Given the description of an element on the screen output the (x, y) to click on. 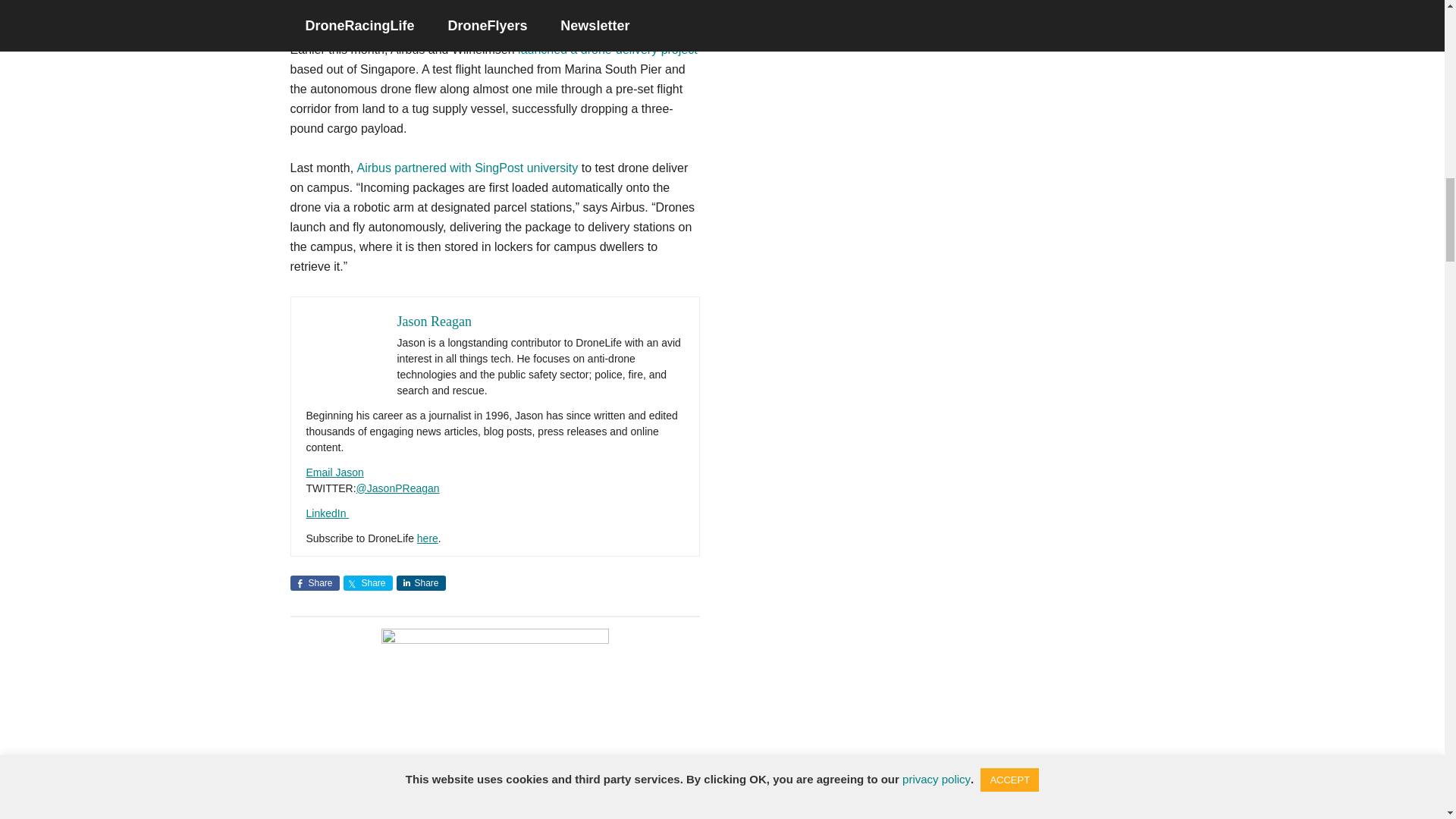
Airbus partnered with SingPost university (467, 167)
LinkedIn  (327, 512)
launched a drone-delivery project (607, 49)
Email Jason (334, 472)
here (427, 538)
Jason Reagan (434, 321)
